Given the description of an element on the screen output the (x, y) to click on. 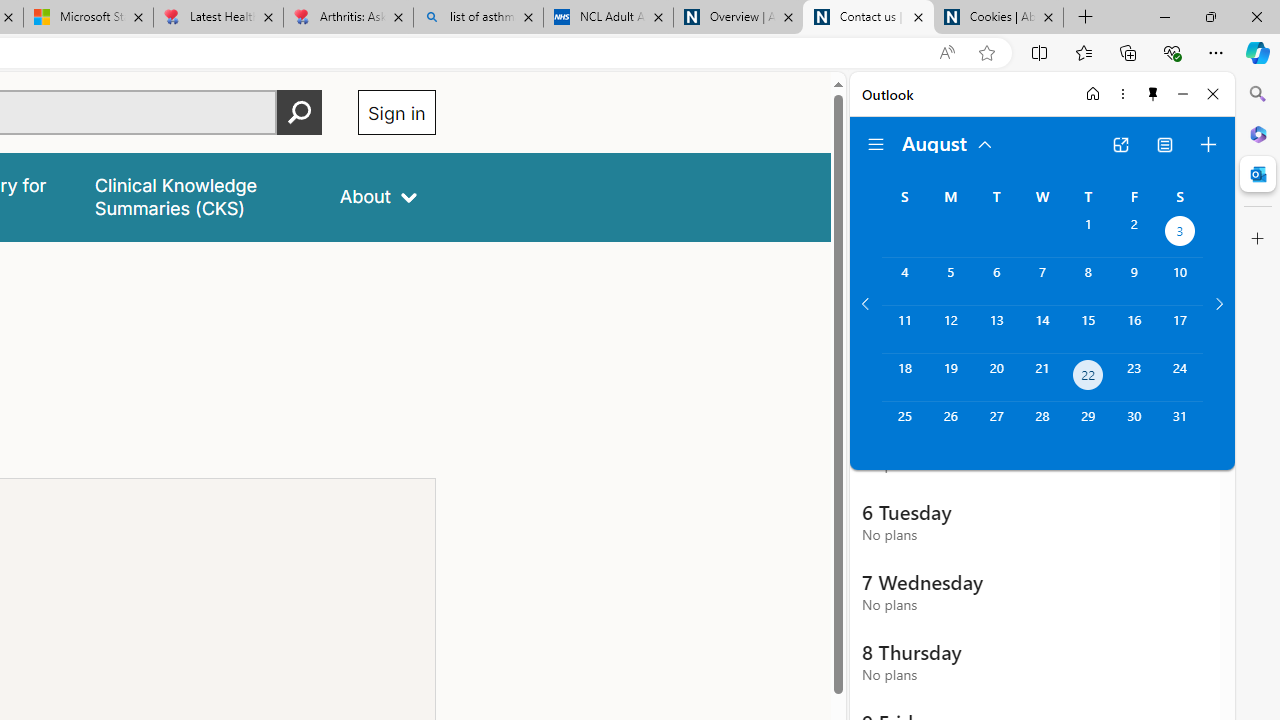
Create event (1208, 144)
